Given the description of an element on the screen output the (x, y) to click on. 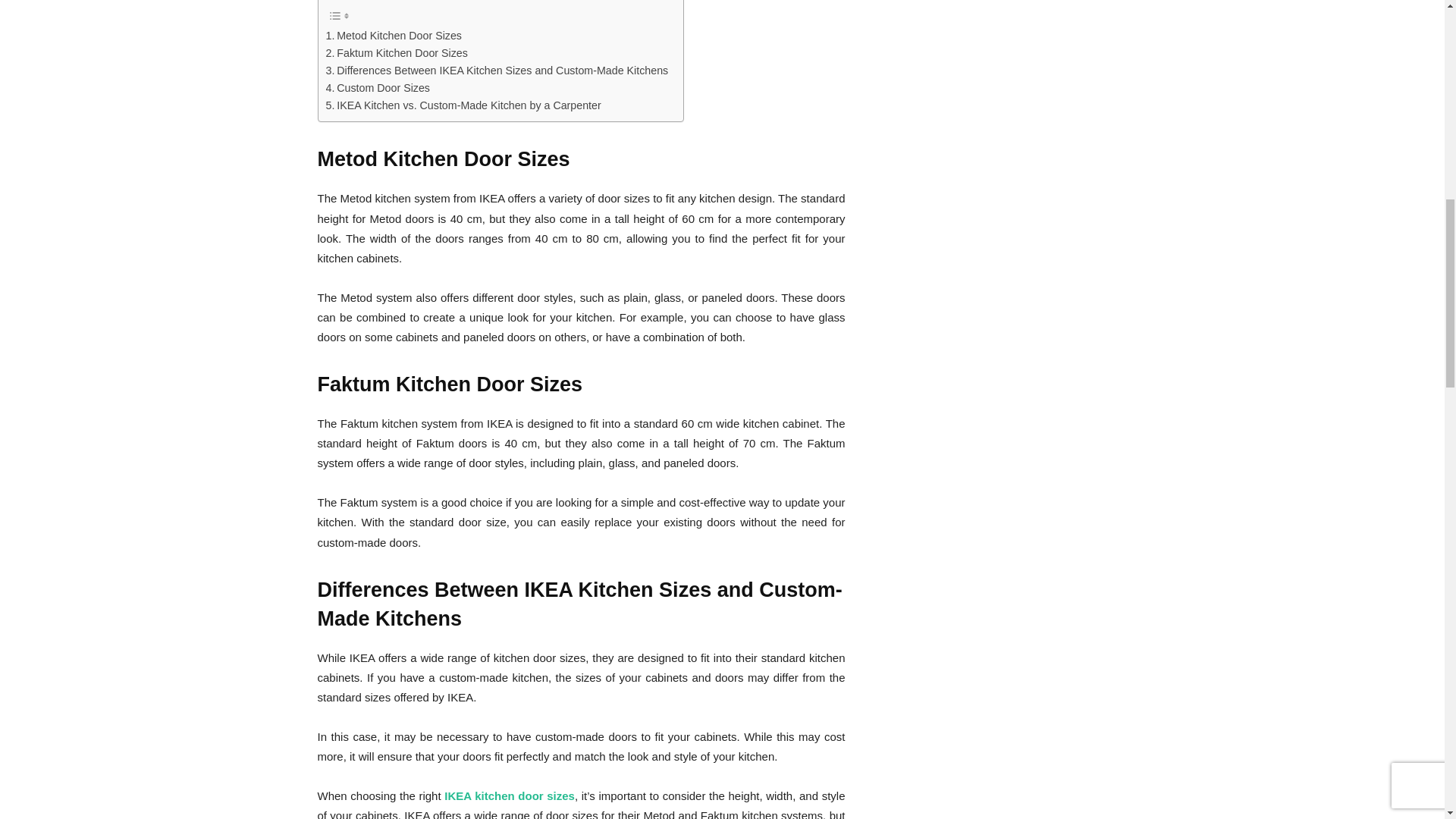
Custom Door Sizes (378, 88)
Faktum Kitchen Door Sizes (396, 53)
Metod Kitchen Door Sizes (394, 36)
IKEA Kitchen vs. Custom-Made Kitchen by a Carpenter (463, 105)
